Given the description of an element on the screen output the (x, y) to click on. 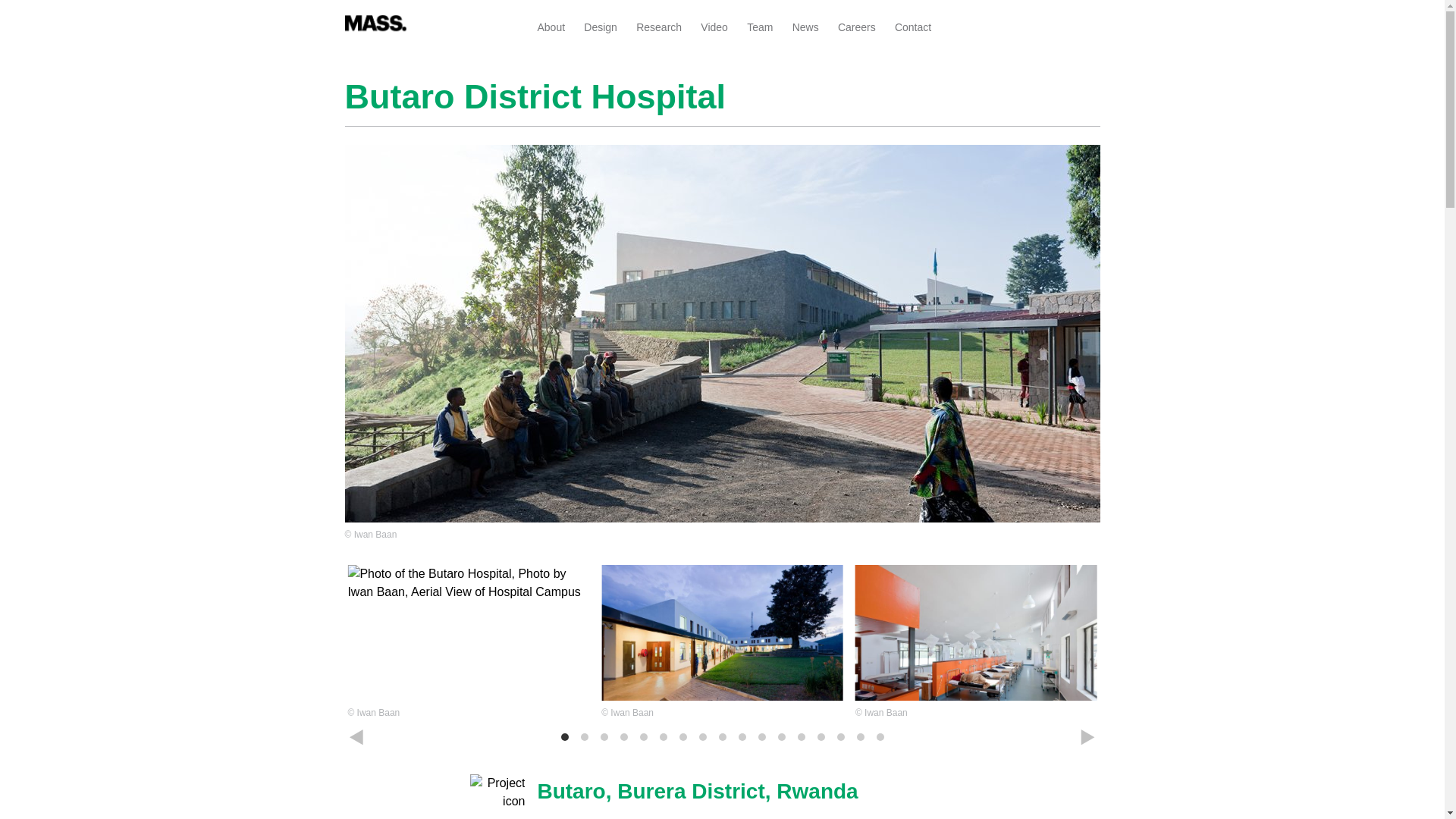
About (550, 27)
Team (759, 27)
News (805, 27)
Design (600, 27)
Careers (857, 27)
Research (658, 27)
Video (714, 27)
MASS Design Group's mission (550, 27)
Work for MASS. (857, 27)
Contact (913, 27)
Home (374, 19)
